Given the description of an element on the screen output the (x, y) to click on. 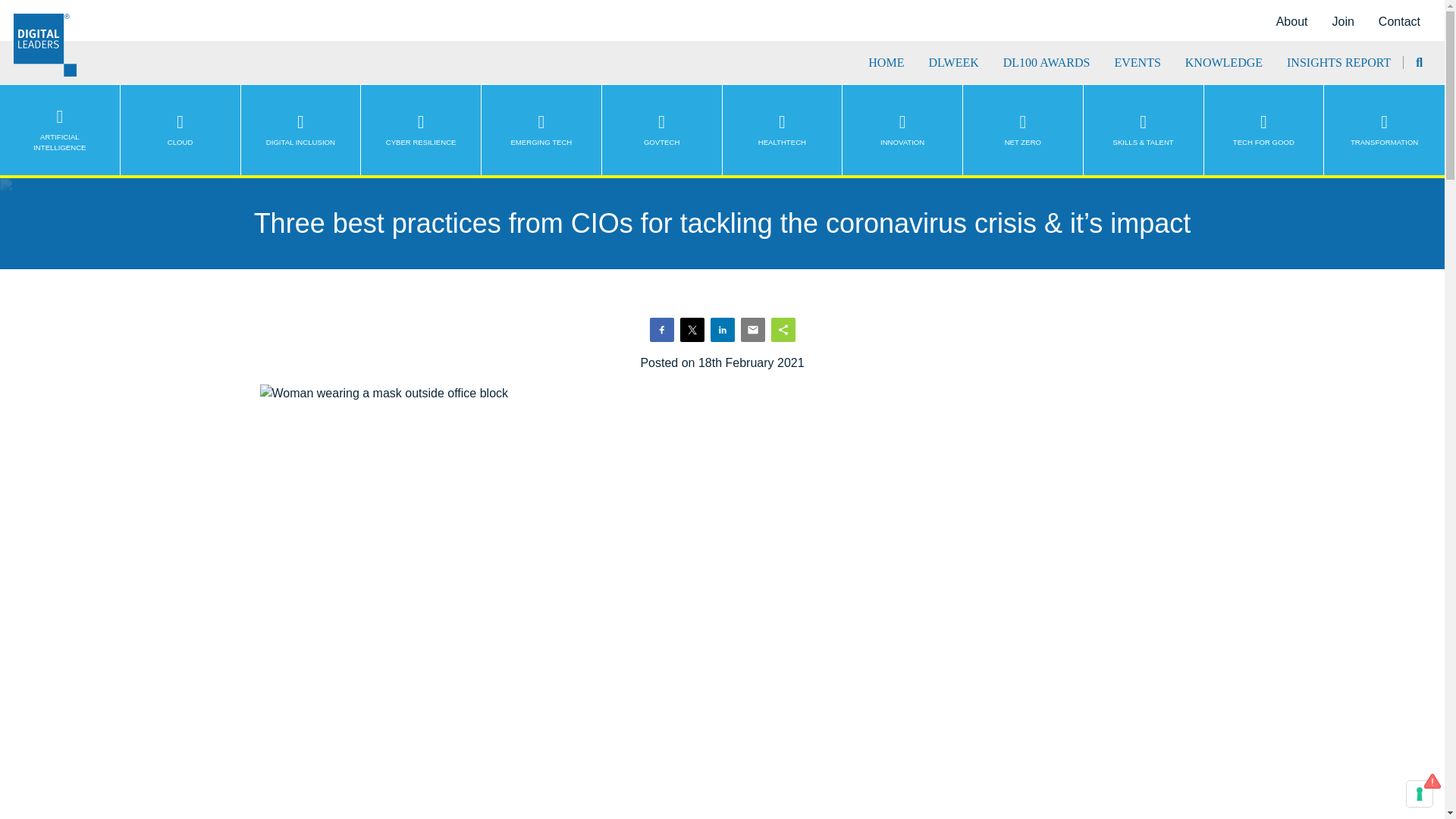
EVENTS (1136, 62)
Join (1343, 21)
CYBER RESILIENCE (421, 129)
Digital Leaders (45, 44)
ARTIFICIAL INTELLIGENCE (60, 129)
NET ZERO (1022, 129)
HEALTHTECH (782, 129)
INNOVATION (902, 129)
EMERGING TECH (541, 129)
DIGITAL INCLUSION (301, 129)
DLWEEK (953, 62)
KNOWLEDGE (1223, 62)
INSIGHTS REPORT (1338, 62)
TECH FOR GOOD (1264, 129)
HOME (885, 62)
